Given the description of an element on the screen output the (x, y) to click on. 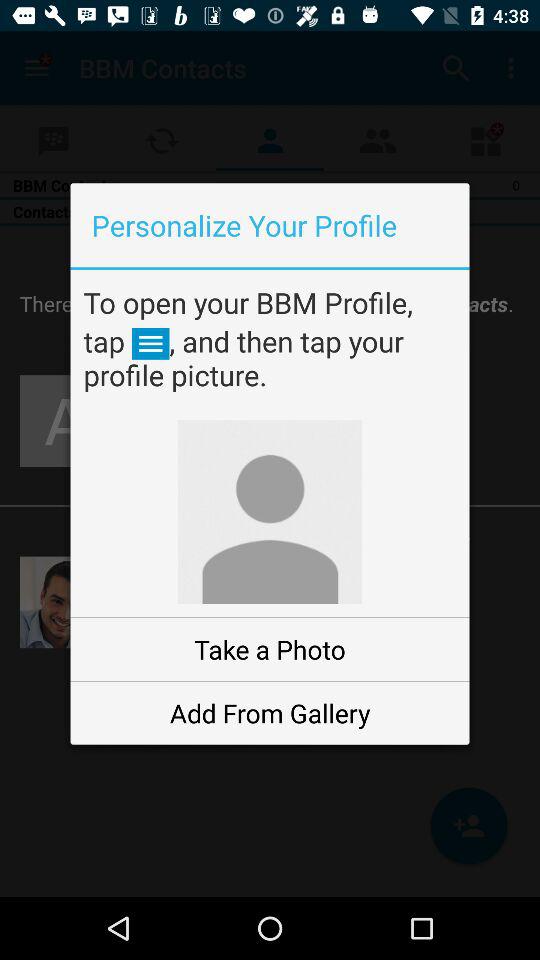
launch the take a photo item (269, 649)
